Given the description of an element on the screen output the (x, y) to click on. 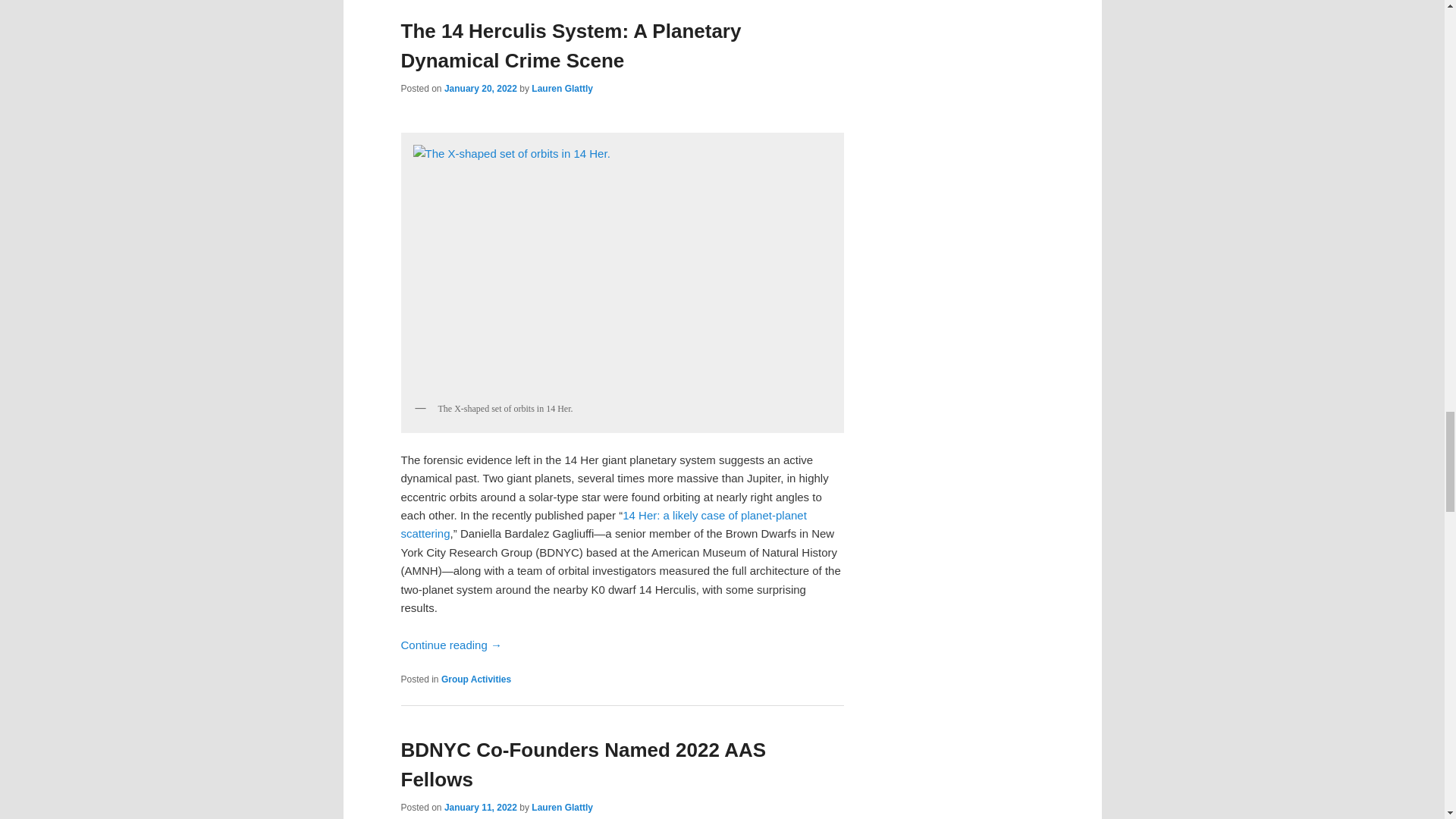
View all posts by Lauren Glattly (561, 88)
11:09 pm (480, 807)
1:50 pm (480, 88)
View all posts by Lauren Glattly (561, 807)
